Given the description of an element on the screen output the (x, y) to click on. 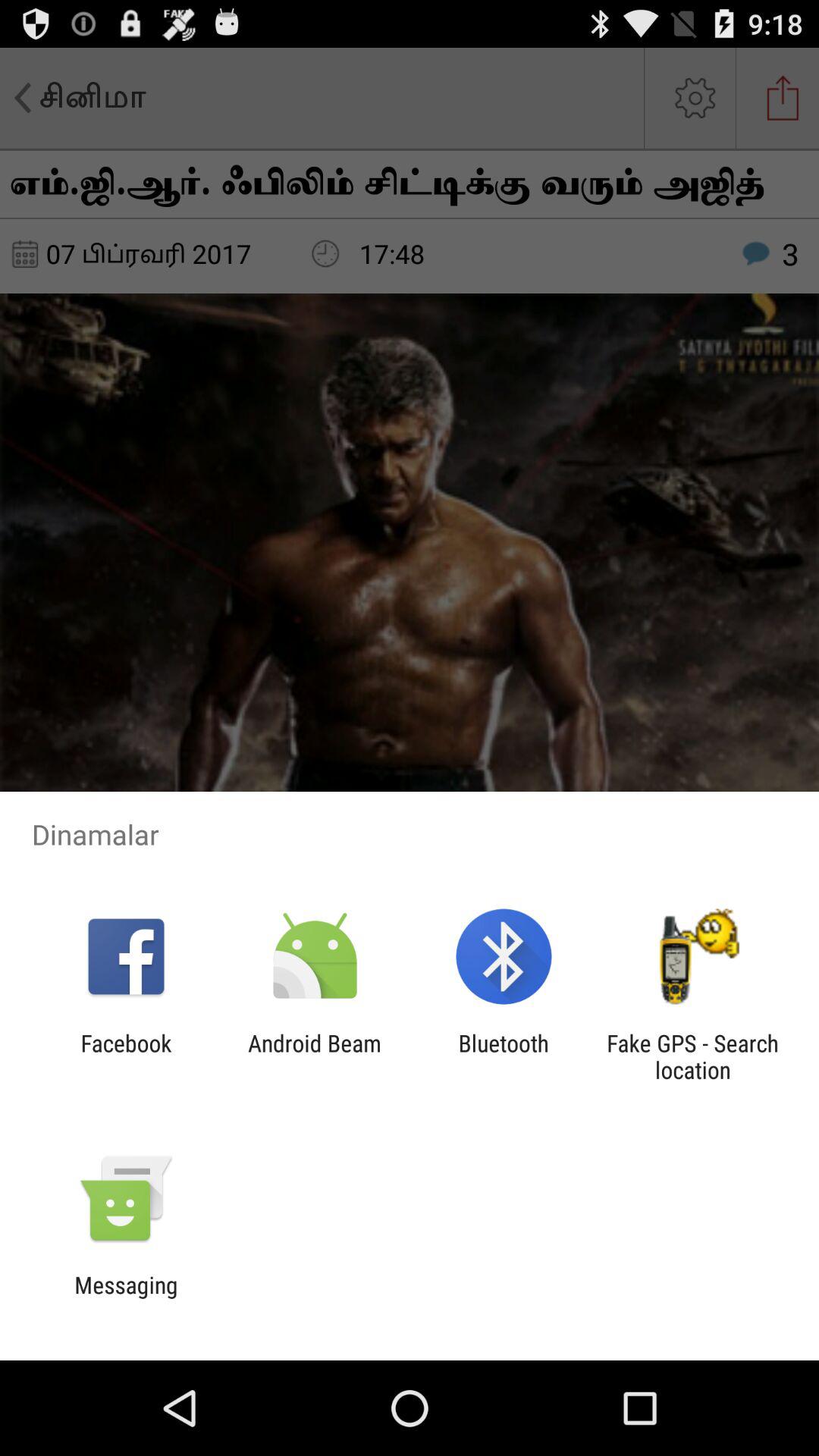
tap the app to the right of bluetooth item (692, 1056)
